Given the description of an element on the screen output the (x, y) to click on. 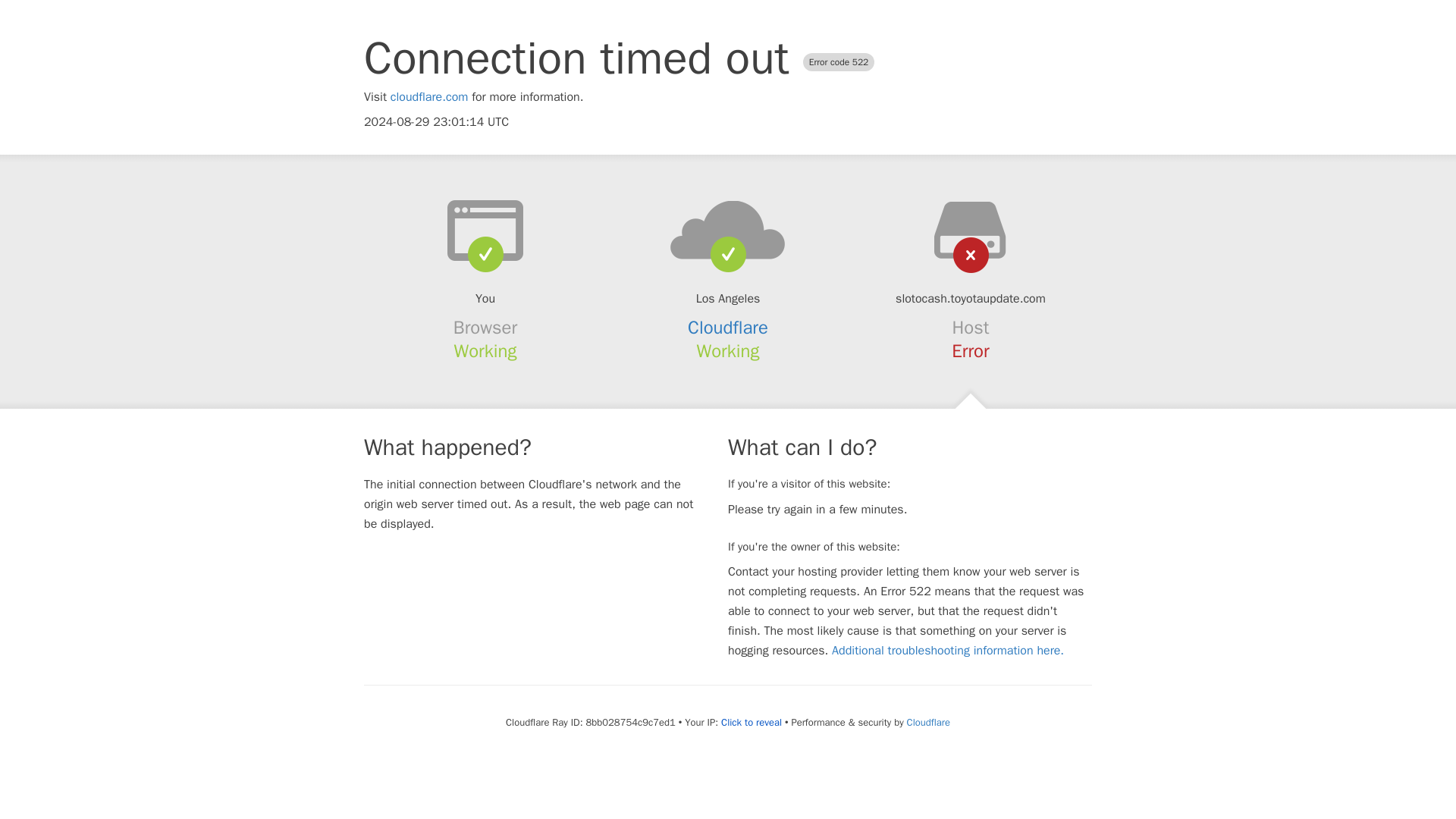
cloudflare.com (429, 96)
Cloudflare (928, 721)
Cloudflare (727, 327)
Click to reveal (750, 722)
Additional troubleshooting information here. (947, 650)
